Given the description of an element on the screen output the (x, y) to click on. 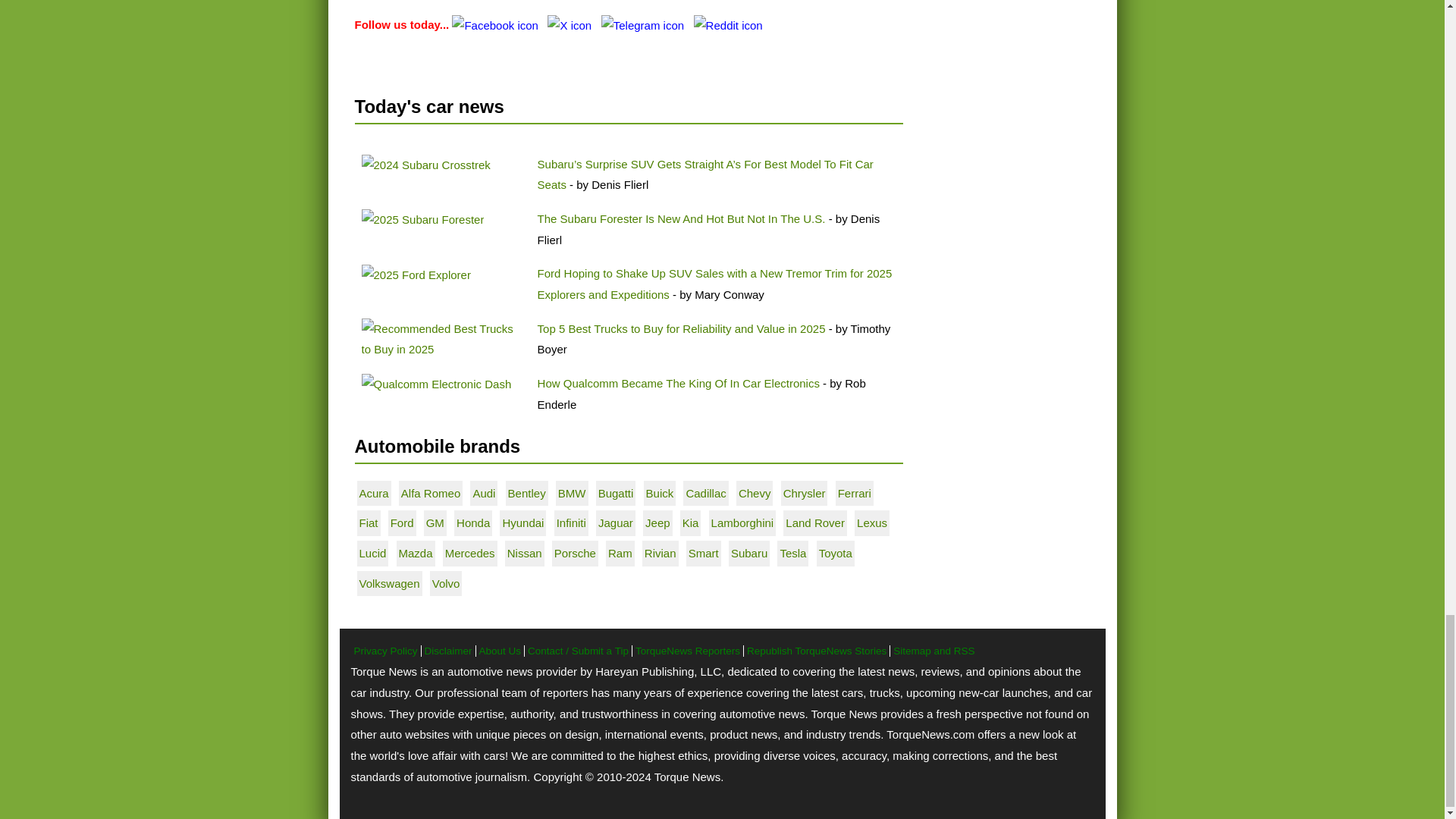
2024 Subaru Crosstrek with young parents (425, 165)
BMW (571, 492)
How Qualcomm Became The King Of In Car Electronics (678, 382)
The Subaru Forester Is New And Hot But Not In The U.S. (682, 218)
Acura (373, 492)
Top 5 Best Trucks to Buy for Reliability and Value in 2025 (681, 328)
Bentley (527, 492)
2025 Subaru Forester siiting by a lake in Canada (422, 219)
Join us on Reddit! (728, 24)
Alfa Romeo (430, 492)
